Given the description of an element on the screen output the (x, y) to click on. 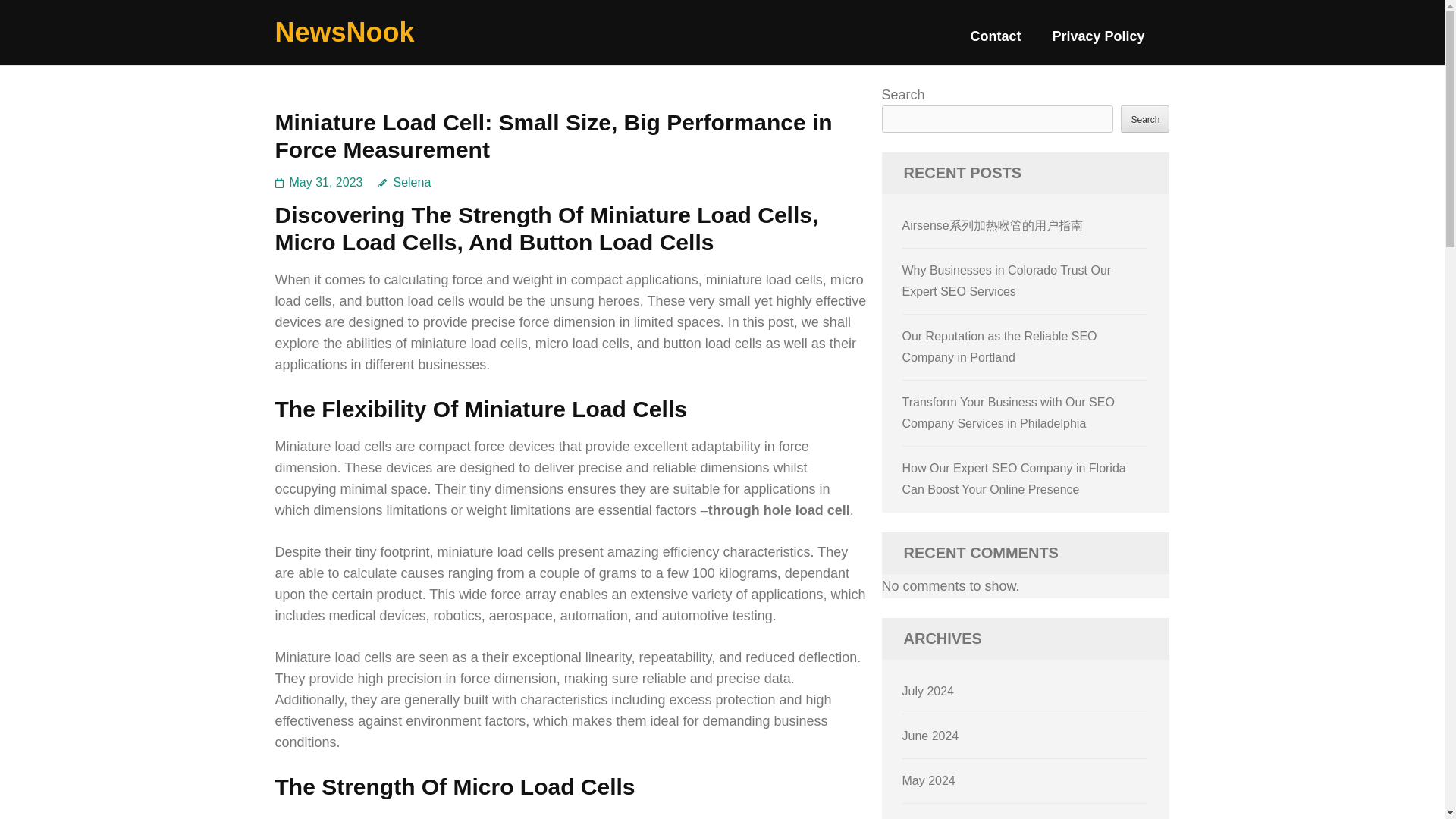
Privacy Policy (1097, 42)
May 31, 2023 (325, 182)
Why Businesses in Colorado Trust Our Expert SEO Services (1007, 280)
July 2024 (928, 690)
Search (1145, 118)
Contact (994, 42)
June 2024 (930, 735)
NewsNook (344, 31)
Selena (404, 182)
through hole load cell (778, 509)
Our Reputation as the Reliable SEO Company in Portland (999, 346)
May 2024 (928, 780)
